Given the description of an element on the screen output the (x, y) to click on. 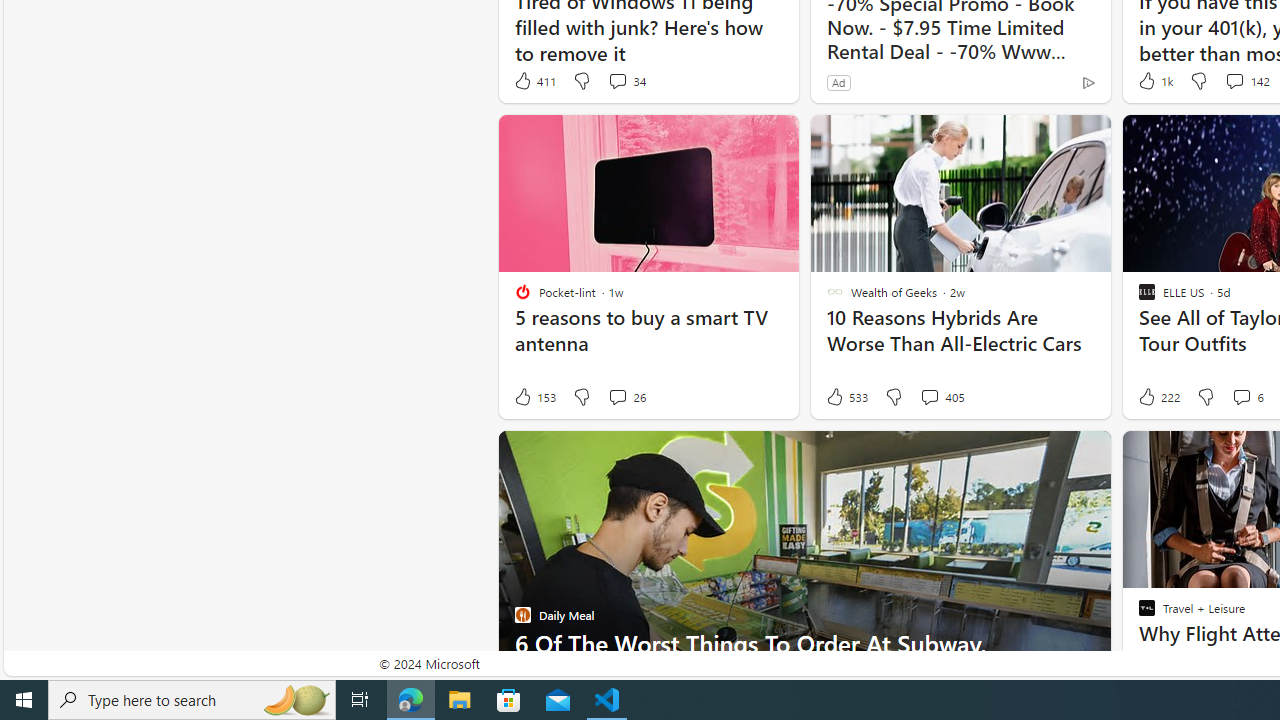
Hide this story (1147, 454)
533 Like (845, 397)
View comments 405 Comment (929, 396)
View comments 6 Comment (1247, 397)
View comments 26 Comment (626, 397)
View comments 142 Comment (1234, 80)
